Given the description of an element on the screen output the (x, y) to click on. 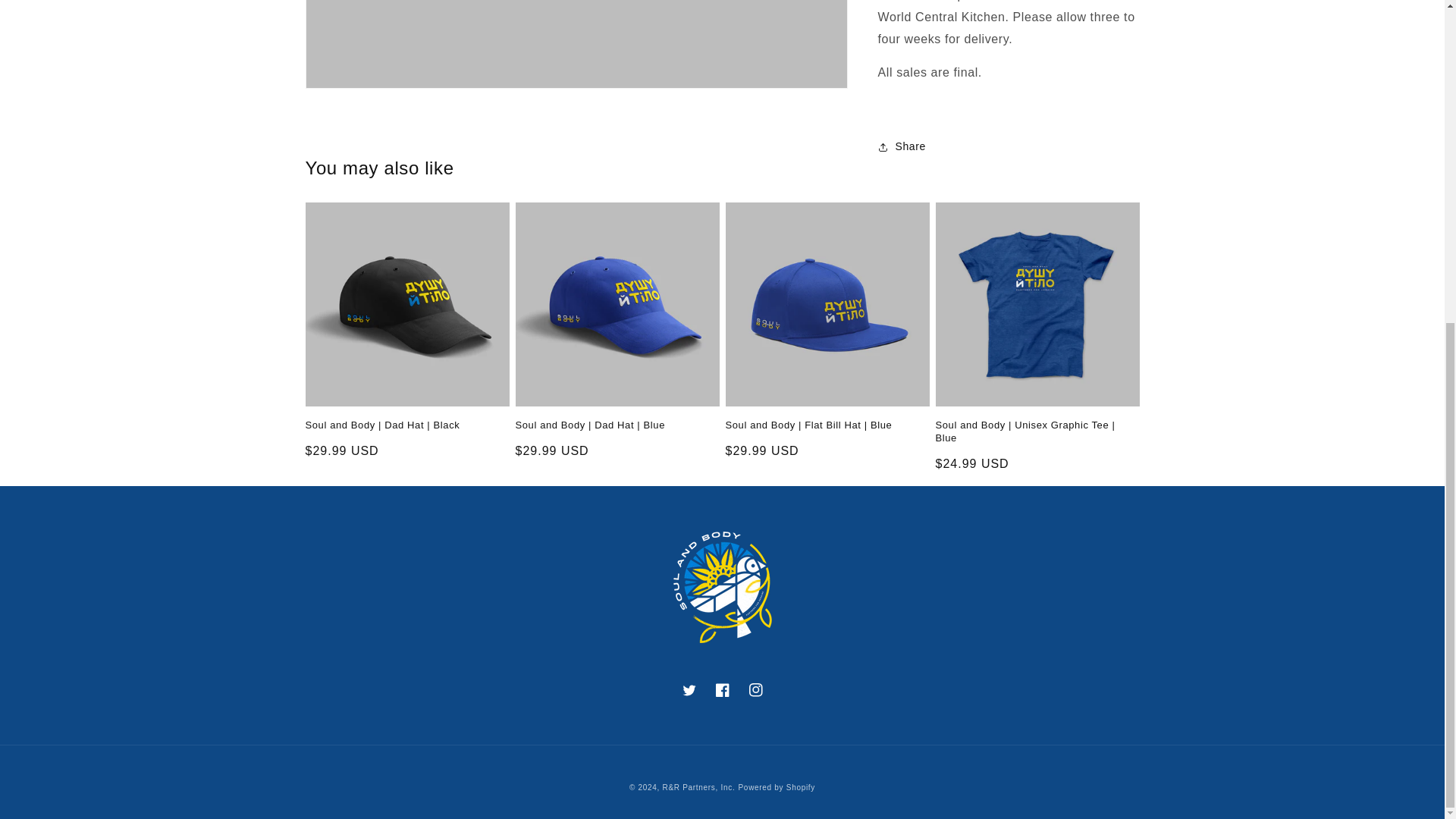
Twitter (687, 689)
Powered by Shopify (776, 786)
Facebook (721, 689)
Instagram (754, 689)
